Given the description of an element on the screen output the (x, y) to click on. 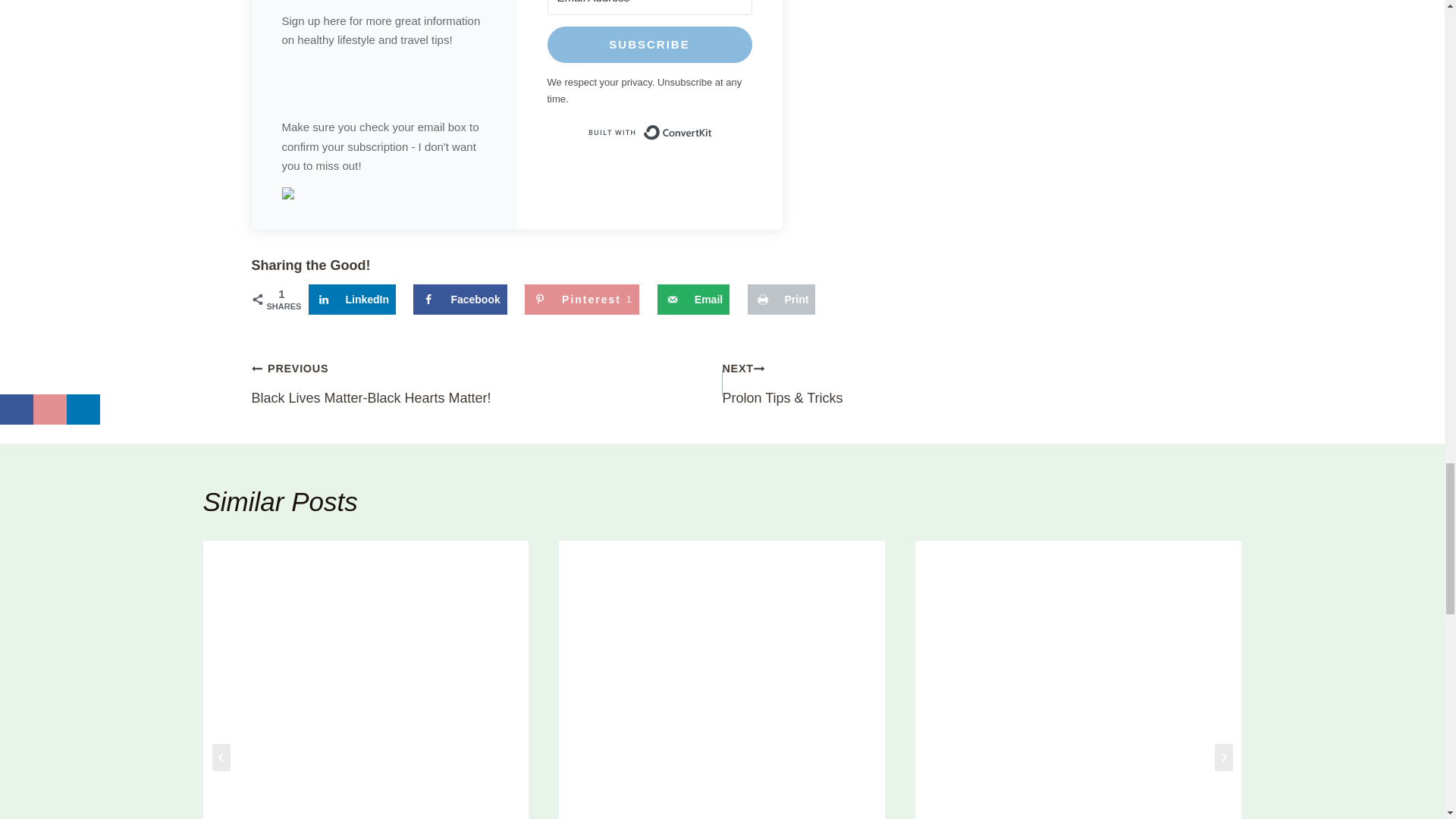
Email (693, 299)
Facebook (459, 299)
Share on LinkedIn (351, 299)
LinkedIn (486, 382)
Built with ConvertKit (351, 299)
Print this webpage (649, 132)
Send over email (781, 299)
Print (581, 299)
